Given the description of an element on the screen output the (x, y) to click on. 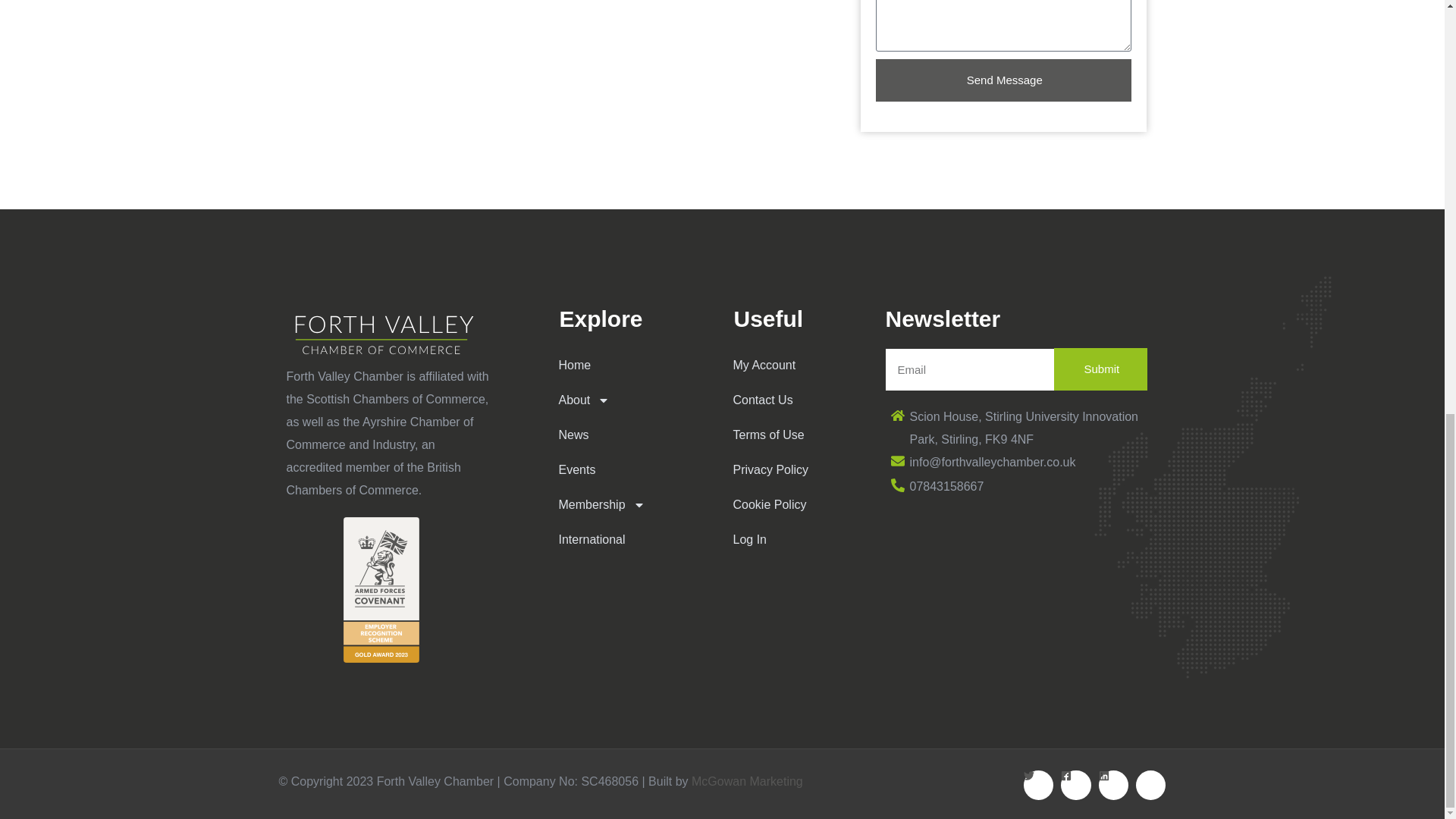
Events (626, 469)
About (626, 400)
Home (626, 365)
News (626, 434)
Send Message (1003, 79)
Membership (626, 504)
